Given the description of an element on the screen output the (x, y) to click on. 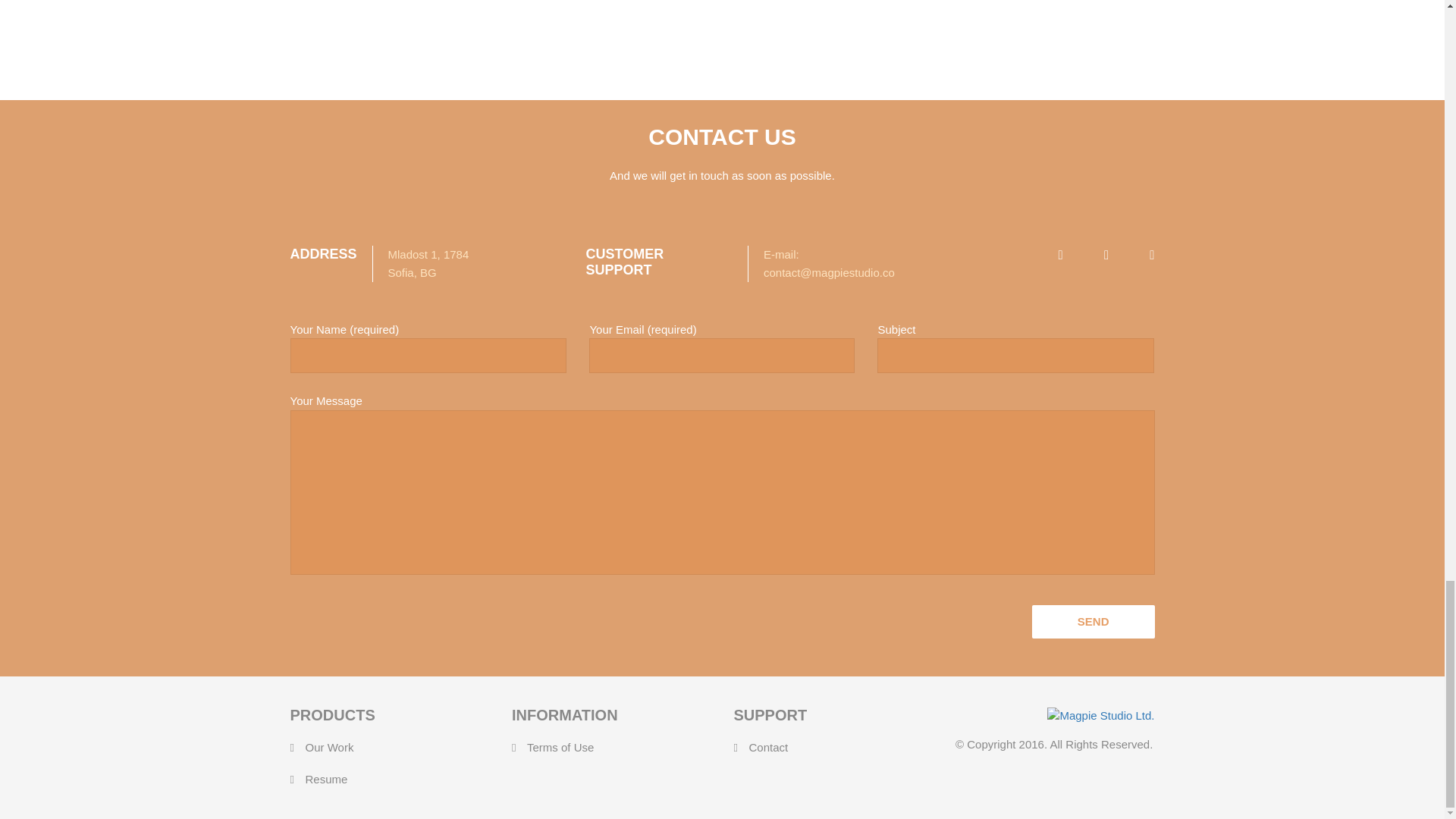
LinkedIn (756, 3)
Facebook (411, 3)
Facebook (707, 3)
Resume (325, 779)
Twitter (436, 3)
Codemotion (927, 4)
LinkedIn (459, 3)
Terms of Use (560, 747)
Twitter (731, 3)
Ten Touch (632, 4)
Contact (769, 747)
Send (1093, 621)
Send (1093, 621)
Our Work (328, 747)
Fonxy (336, 4)
